Given the description of an element on the screen output the (x, y) to click on. 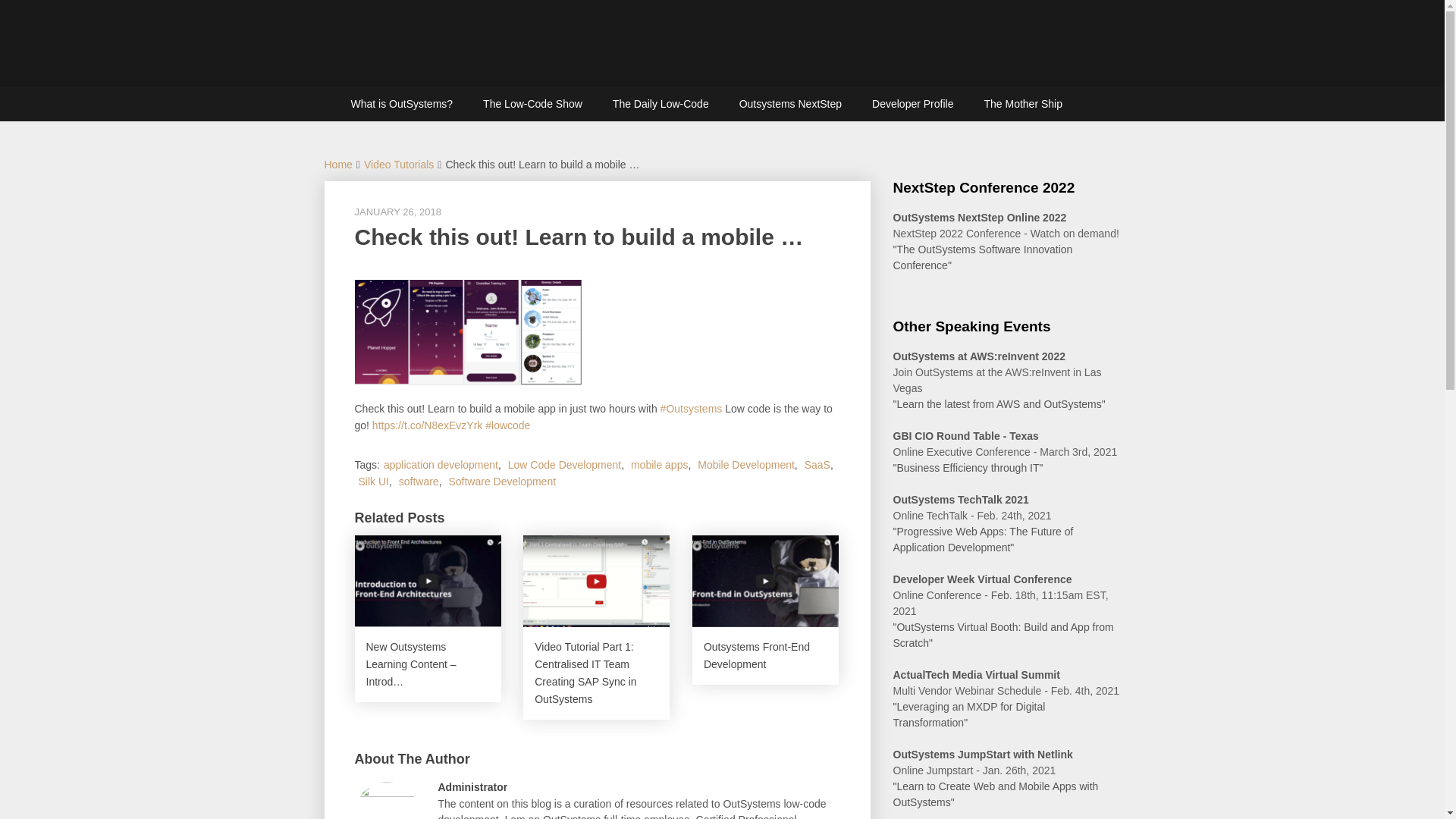
Developer Profile (912, 103)
What is OutSystems? (400, 103)
SaaS (817, 464)
Online TechTalk - Feb. 24th, 2021 (972, 515)
Low Code Development (564, 464)
Online Jumpstart - Jan. 26th, 2021 (975, 770)
The Low-Code Show (531, 103)
Silk UI (373, 481)
Outsystems NextStep (790, 103)
mobile apps (659, 464)
